Given the description of an element on the screen output the (x, y) to click on. 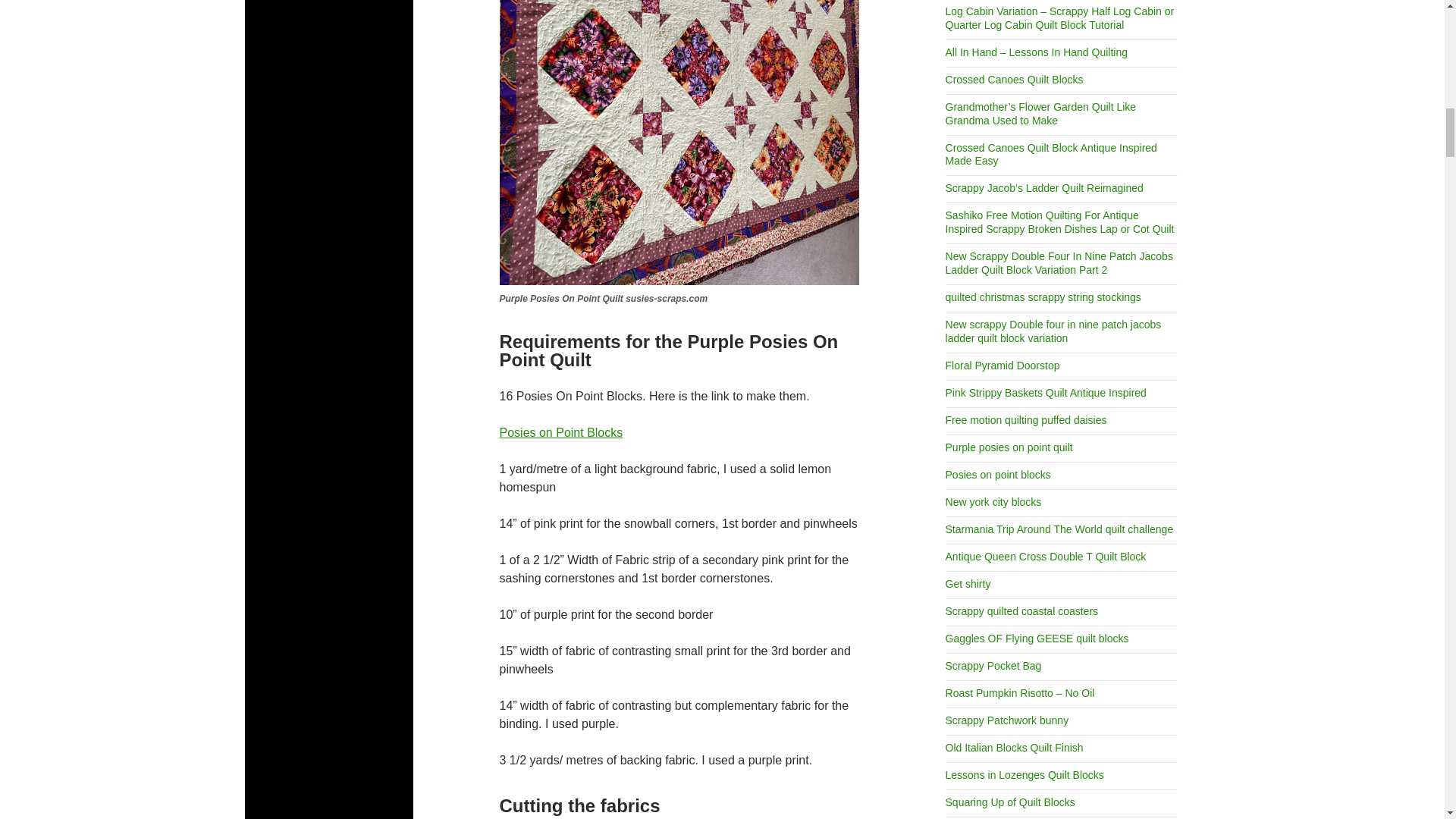
Posies on Point Blocks (561, 431)
